Given the description of an element on the screen output the (x, y) to click on. 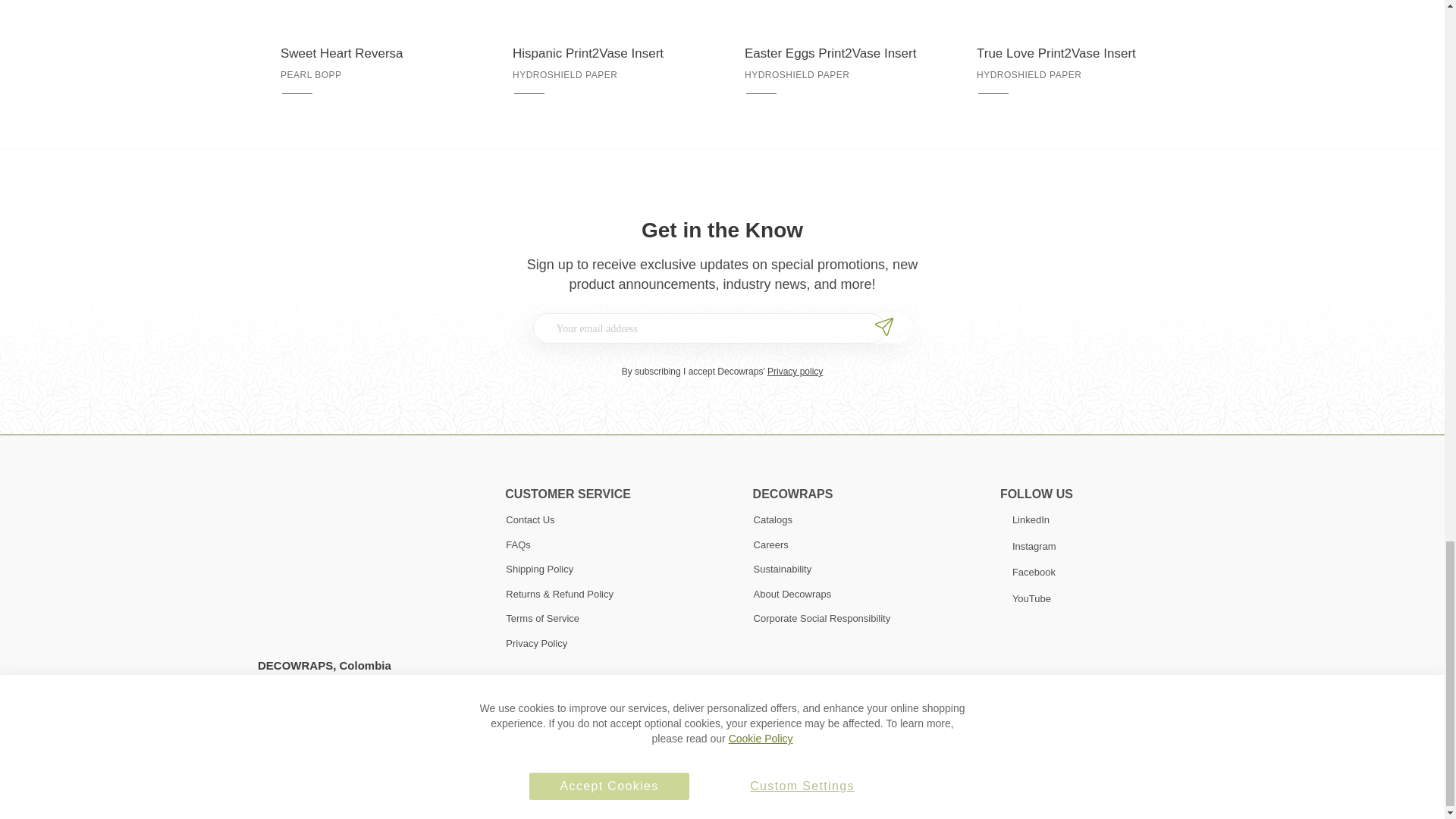
Easter Eggs Print2Vase Insert (837, 53)
Terms and Conditions (306, 796)
Site map (465, 796)
Subscribe (885, 328)
True Love Print2Vase Insert (1069, 53)
Hispanic Print2Vase Insert (605, 53)
Privacy Policy  (395, 796)
Sweet Heart Reversa (374, 53)
